Given the description of an element on the screen output the (x, y) to click on. 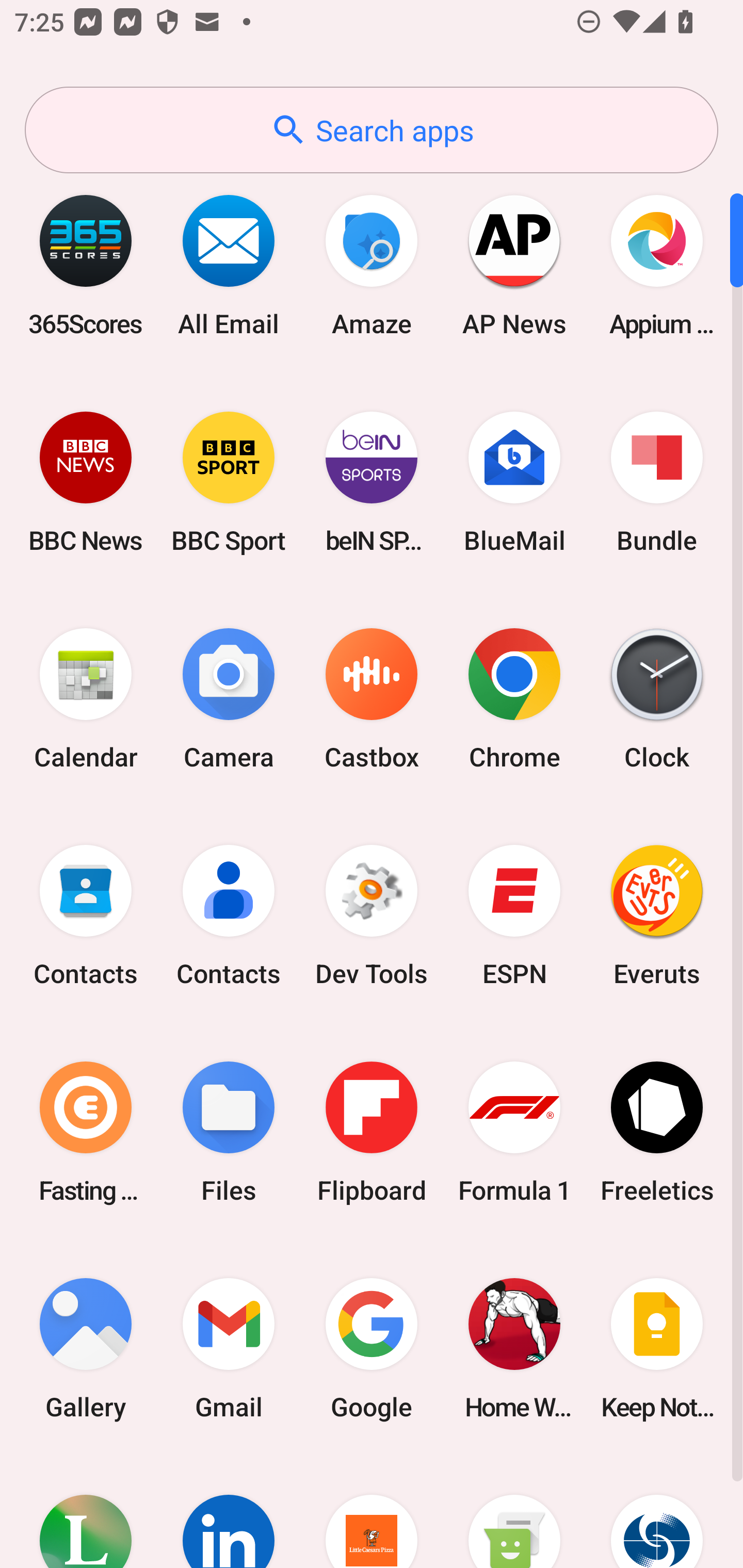
  Search apps (371, 130)
365Scores (85, 264)
All Email (228, 264)
Amaze (371, 264)
AP News (514, 264)
Appium Settings (656, 264)
BBC News (85, 482)
BBC Sport (228, 482)
beIN SPORTS (371, 482)
BlueMail (514, 482)
Bundle (656, 482)
Calendar (85, 699)
Camera (228, 699)
Castbox (371, 699)
Chrome (514, 699)
Clock (656, 699)
Contacts (85, 915)
Contacts (228, 915)
Dev Tools (371, 915)
ESPN (514, 915)
Everuts (656, 915)
Fasting Coach (85, 1131)
Files (228, 1131)
Flipboard (371, 1131)
Formula 1 (514, 1131)
Freeletics (656, 1131)
Gallery (85, 1348)
Gmail (228, 1348)
Google (371, 1348)
Home Workout (514, 1348)
Keep Notes (656, 1348)
